Given the description of an element on the screen output the (x, y) to click on. 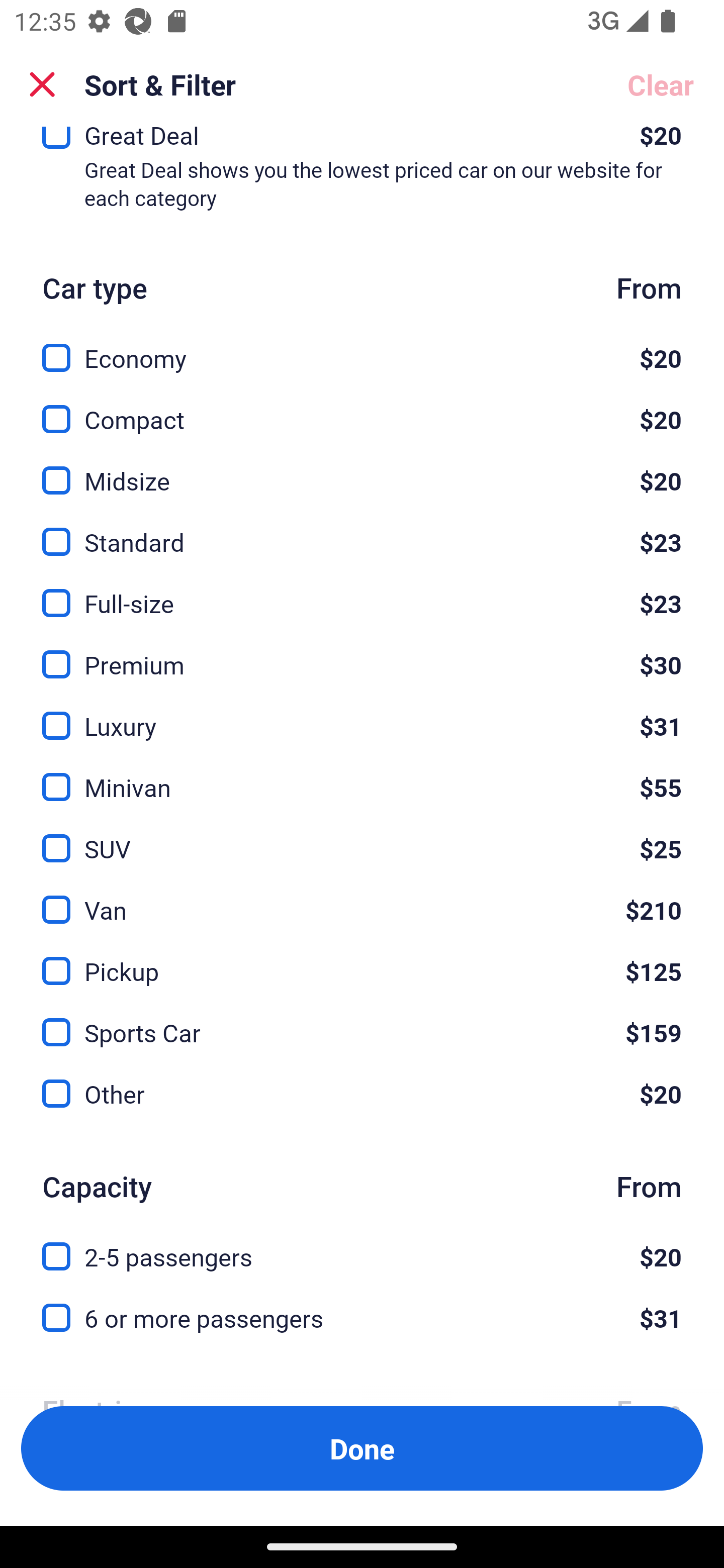
Close Sort and Filter (42, 84)
Clear (660, 84)
Economy, $20 Economy $20 (361, 346)
Compact, $20 Compact $20 (361, 408)
Midsize, $20 Midsize $20 (361, 469)
Standard, $23 Standard $23 (361, 530)
Full-size, $23 Full-size $23 (361, 591)
Premium, $30 Premium $30 (361, 652)
Luxury, $31 Luxury $31 (361, 713)
Minivan, $55 Minivan $55 (361, 774)
SUV, $25 SUV $25 (361, 836)
Van, $210 Van $210 (361, 898)
Pickup, $125 Pickup $125 (361, 959)
Sports Car, $159 Sports Car $159 (361, 1021)
Other, $20 Other $20 (361, 1094)
2-5 passengers, $20 2-5 passengers $20 (361, 1245)
6 or more passengers, $31 6 or more passengers $31 (361, 1318)
Apply and close Sort and Filter Done (361, 1448)
